Given the description of an element on the screen output the (x, y) to click on. 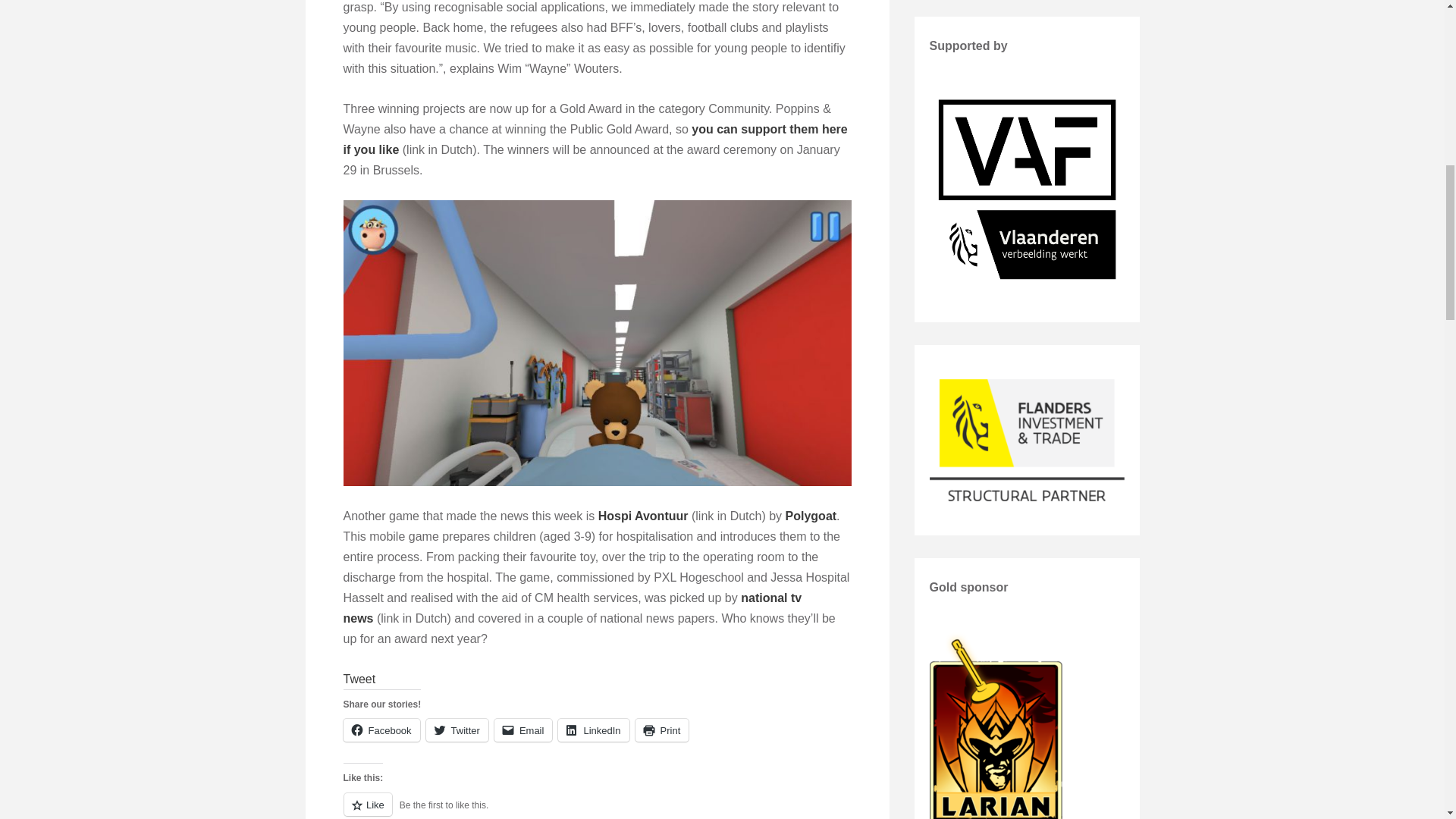
LinkedIn (592, 730)
Polygoat (811, 515)
Hospi Avontuur (643, 515)
Twitter (456, 730)
Like or Reblog (596, 805)
Click to share on Twitter (456, 730)
you can support them here if you like (594, 139)
Print (661, 730)
Facebook (380, 730)
Click to share on Facebook (380, 730)
national tv news (572, 607)
Click to share on LinkedIn (592, 730)
Click to print (661, 730)
Click to email a link to a friend (524, 730)
Email (524, 730)
